Given the description of an element on the screen output the (x, y) to click on. 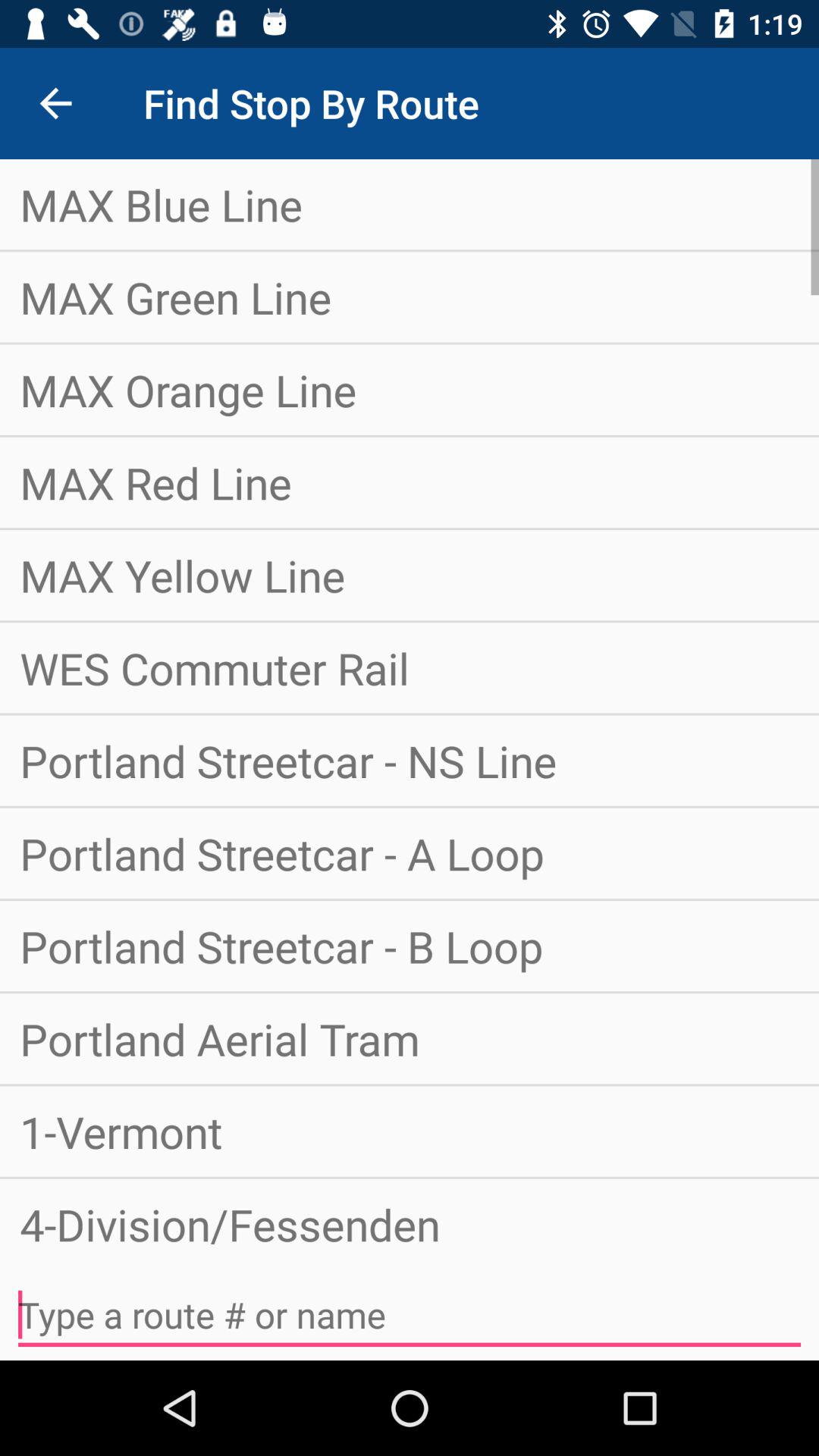
click icon to the left of find stop by (55, 103)
